Given the description of an element on the screen output the (x, y) to click on. 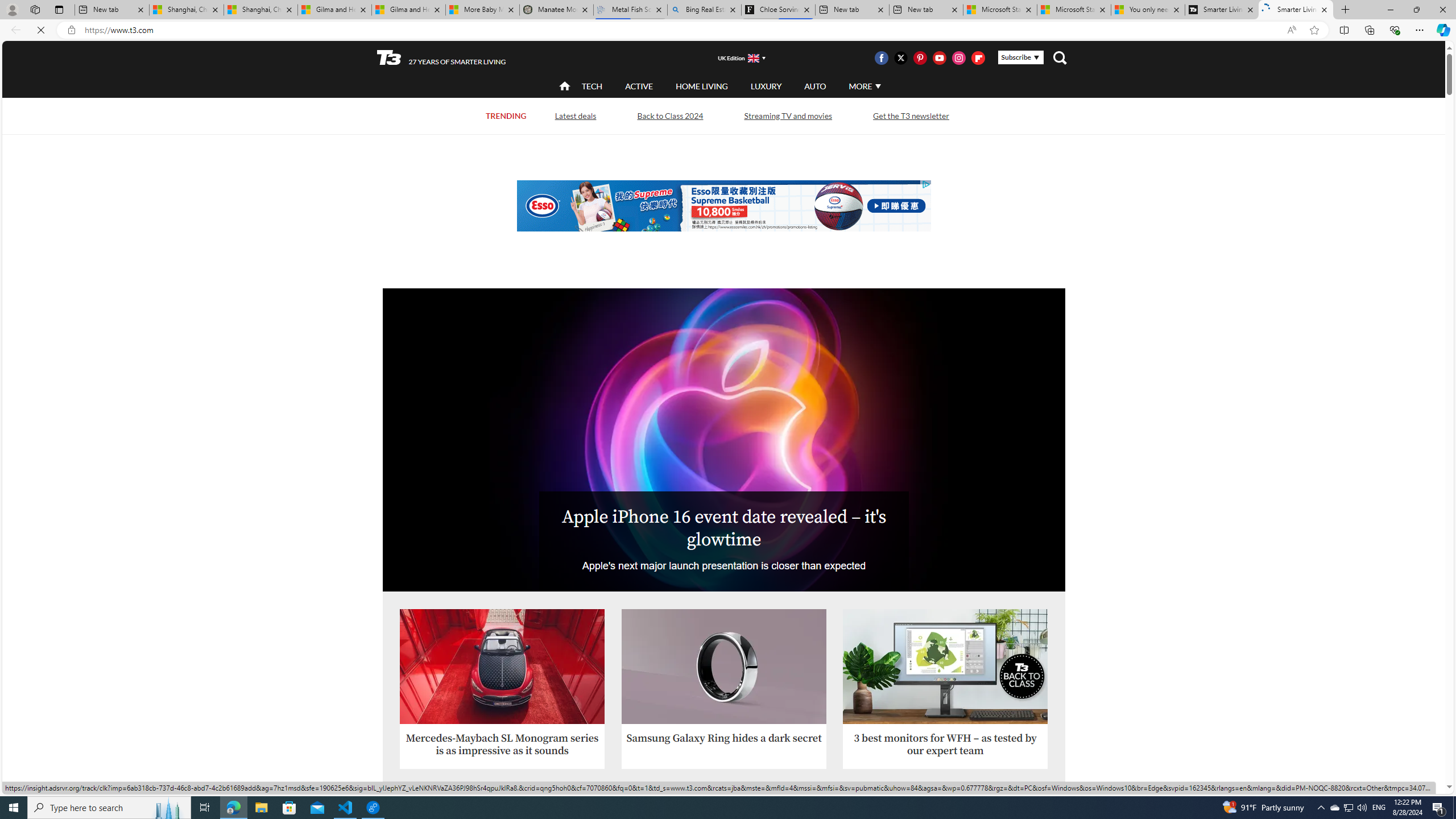
Back to Class 2024 (670, 115)
Latest deals (574, 115)
Samsung Galaxy Ring (724, 666)
Samsung Galaxy Ring hides a dark secret (724, 689)
Class: navigation__item (563, 86)
Visit us on Twitter (900, 57)
flag of UK (752, 57)
